Given the description of an element on the screen output the (x, y) to click on. 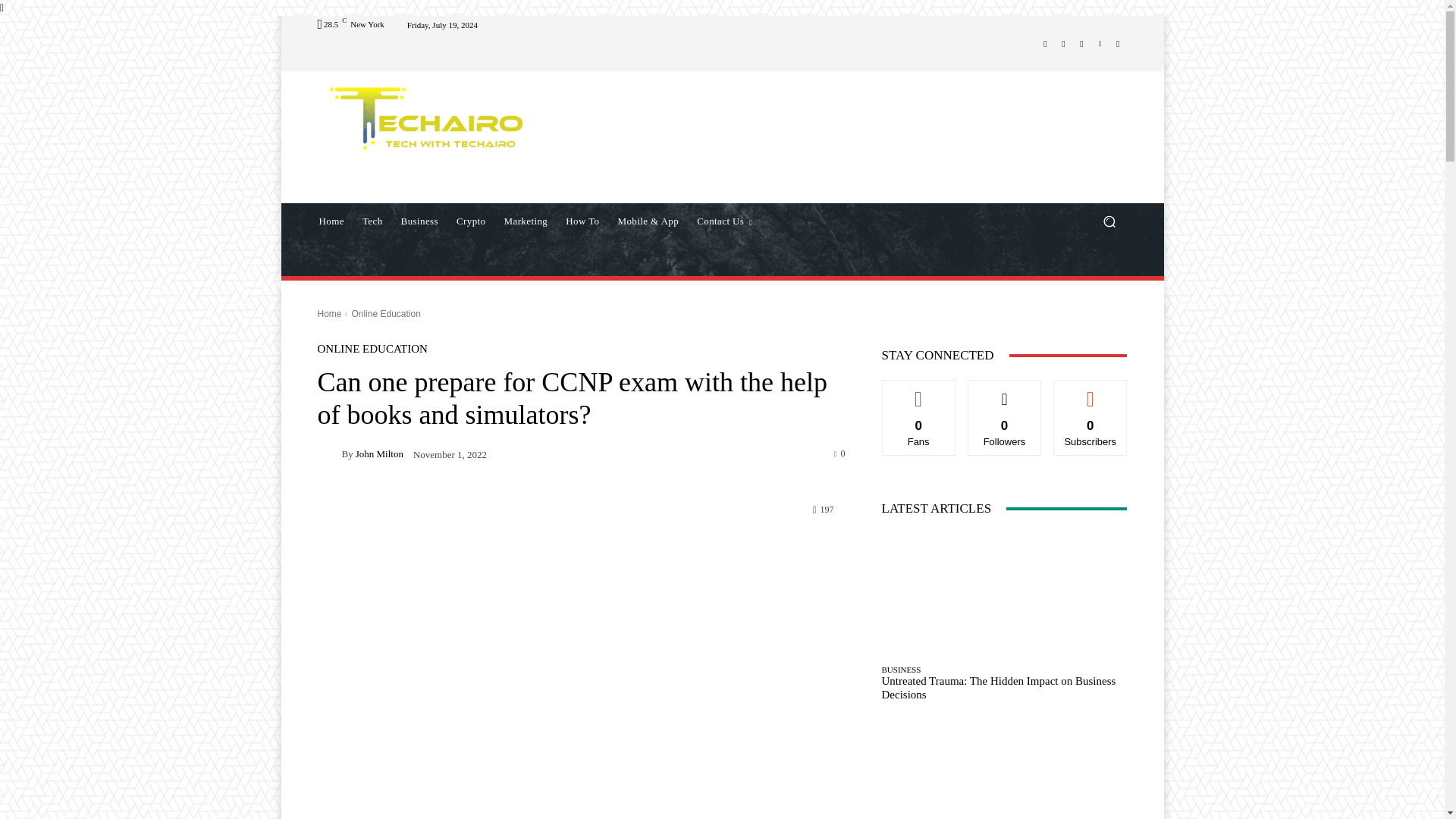
Vimeo (1099, 44)
Home (330, 221)
Tech (372, 221)
Twitter (1080, 44)
Youtube (1117, 44)
Instagram (1062, 44)
Crypto (470, 221)
Marketing (526, 221)
Business (418, 221)
Contact Us (724, 221)
View all posts in Online Education (385, 313)
Facebook (1044, 44)
How To (582, 221)
John Milton (328, 453)
